Given the description of an element on the screen output the (x, y) to click on. 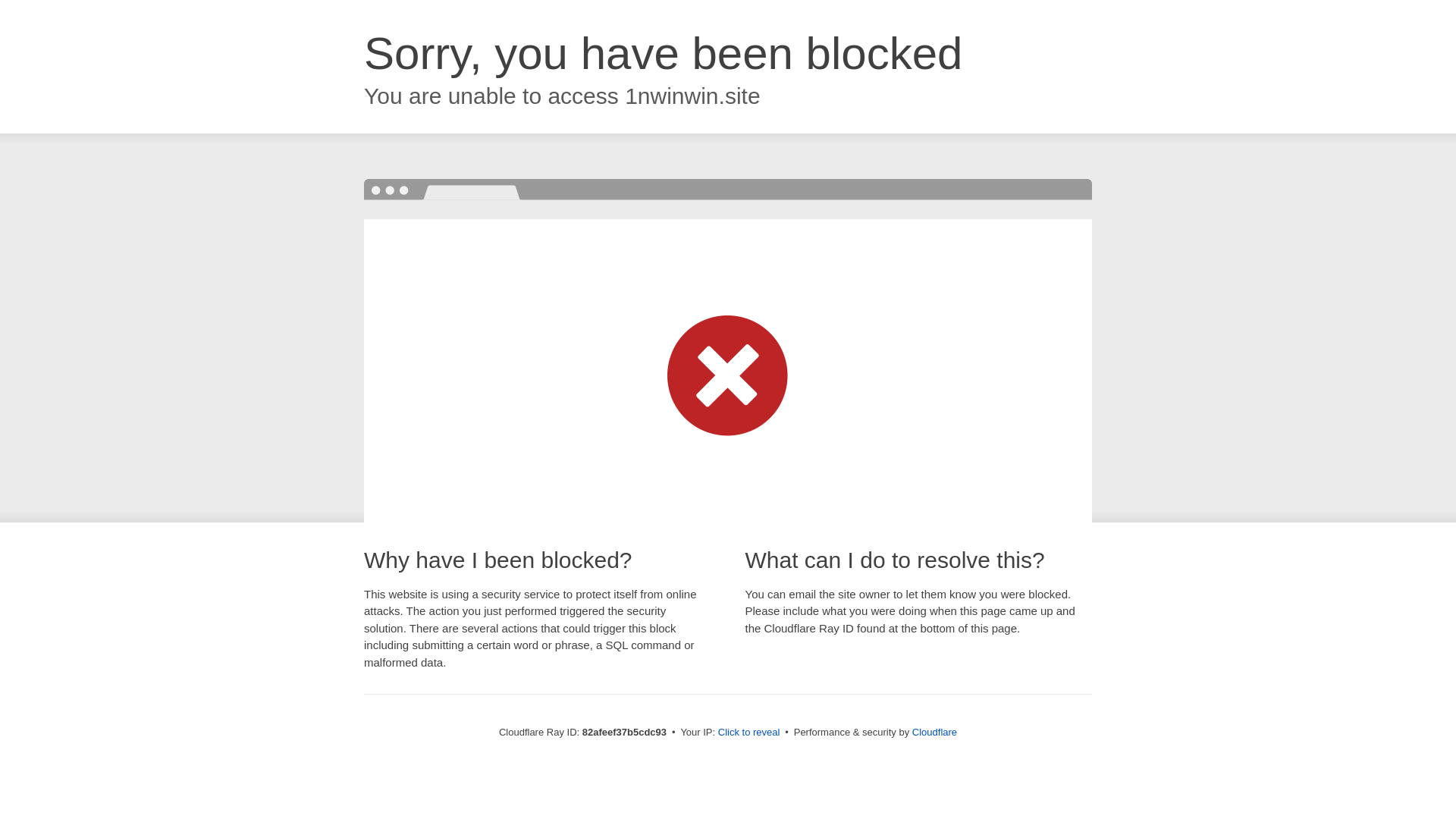
Cloudflare Element type: text (934, 731)
Click to reveal Element type: text (749, 732)
